Given the description of an element on the screen output the (x, y) to click on. 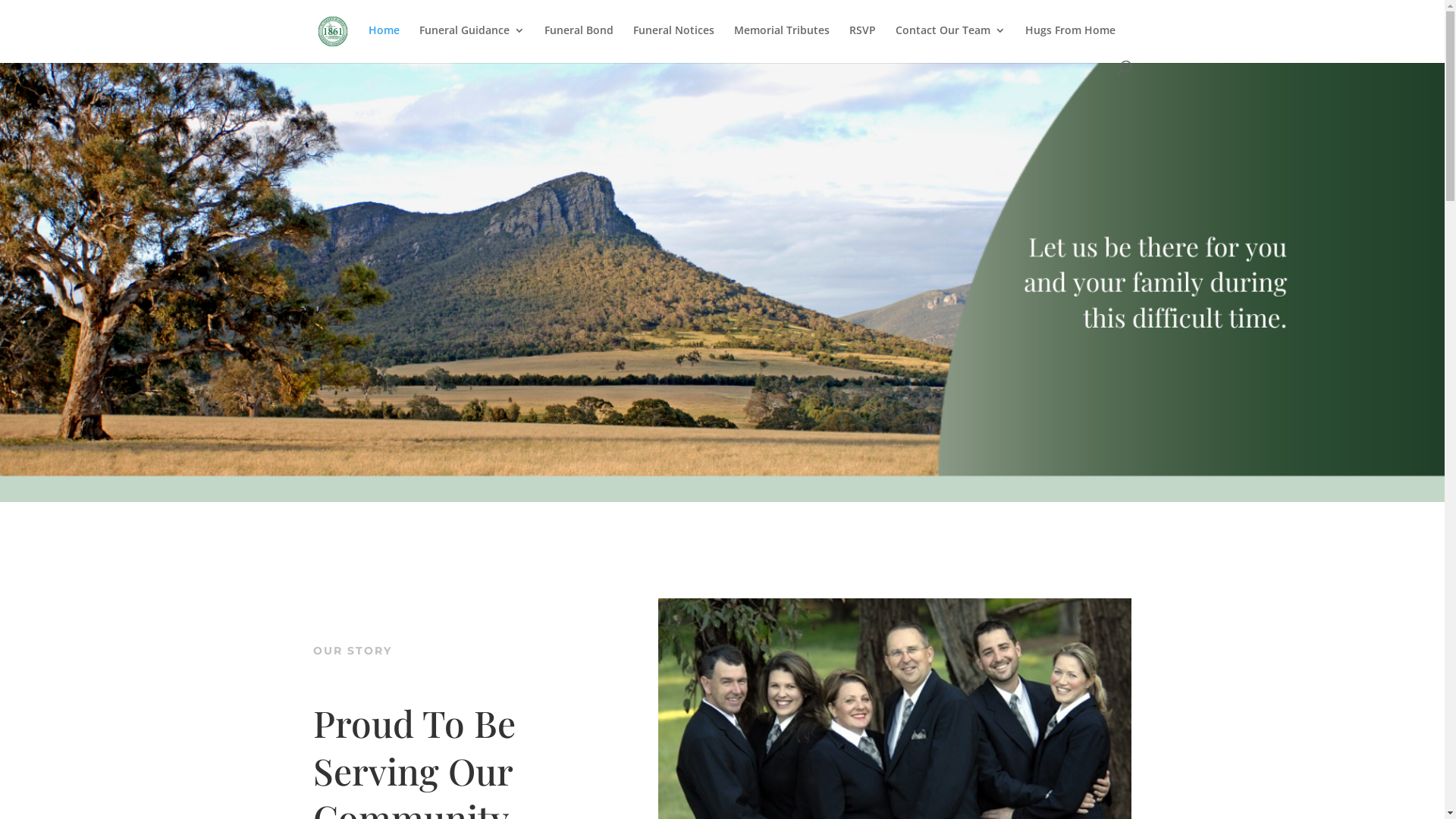
Funeral Guidance Element type: text (471, 42)
Hugs From Home Element type: text (1070, 42)
Contact Our Team Element type: text (949, 42)
Home Element type: text (383, 42)
RSVP Element type: text (862, 42)
Funeral Bond Element type: text (578, 42)
Funeral Notices Element type: text (672, 42)
Memorial Tributes Element type: text (781, 42)
